Given the description of an element on the screen output the (x, y) to click on. 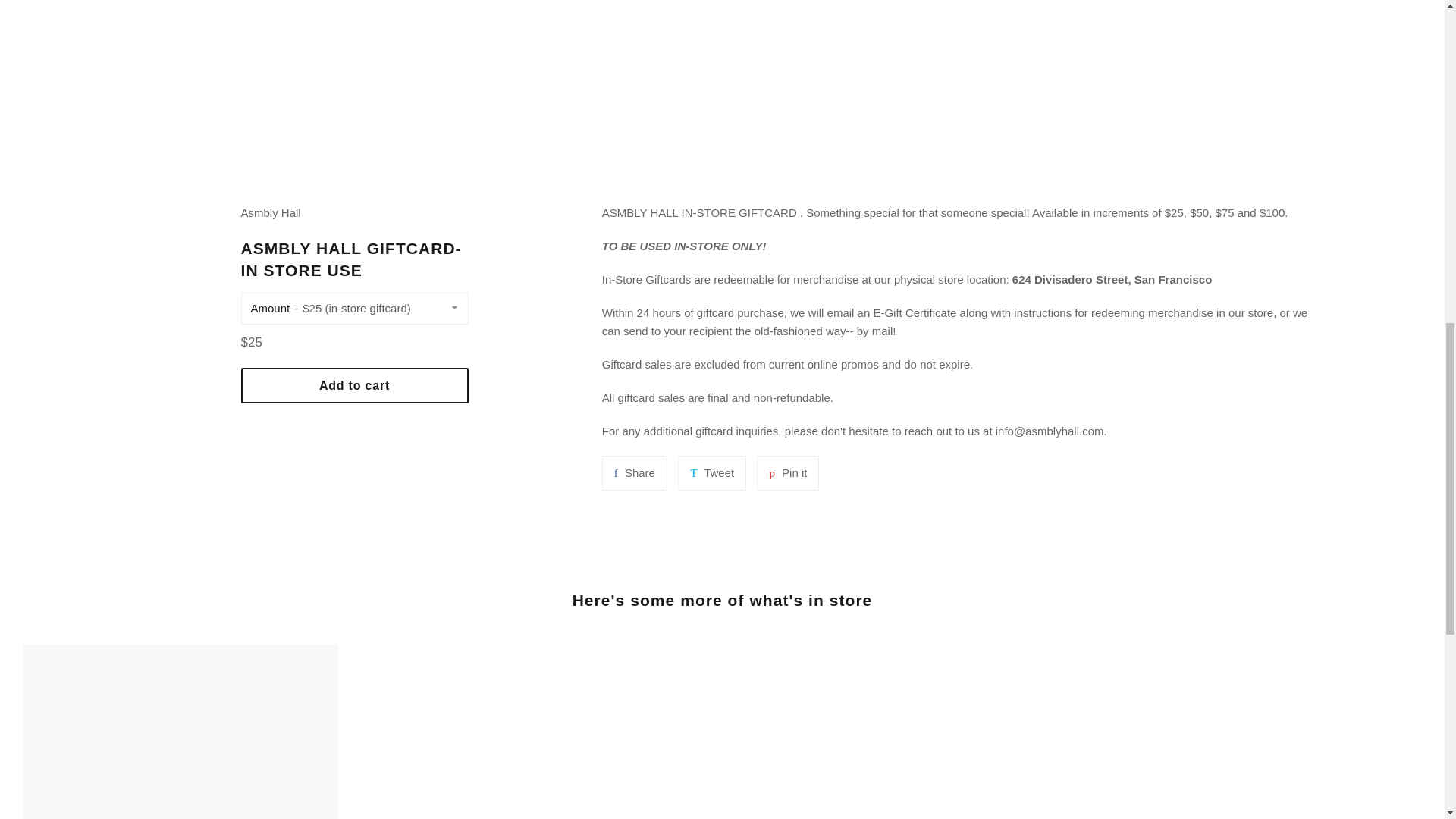
Pin on Pinterest (711, 472)
Share on Facebook (787, 472)
Tweet on Twitter (634, 472)
Add to cart (711, 472)
